Given the description of an element on the screen output the (x, y) to click on. 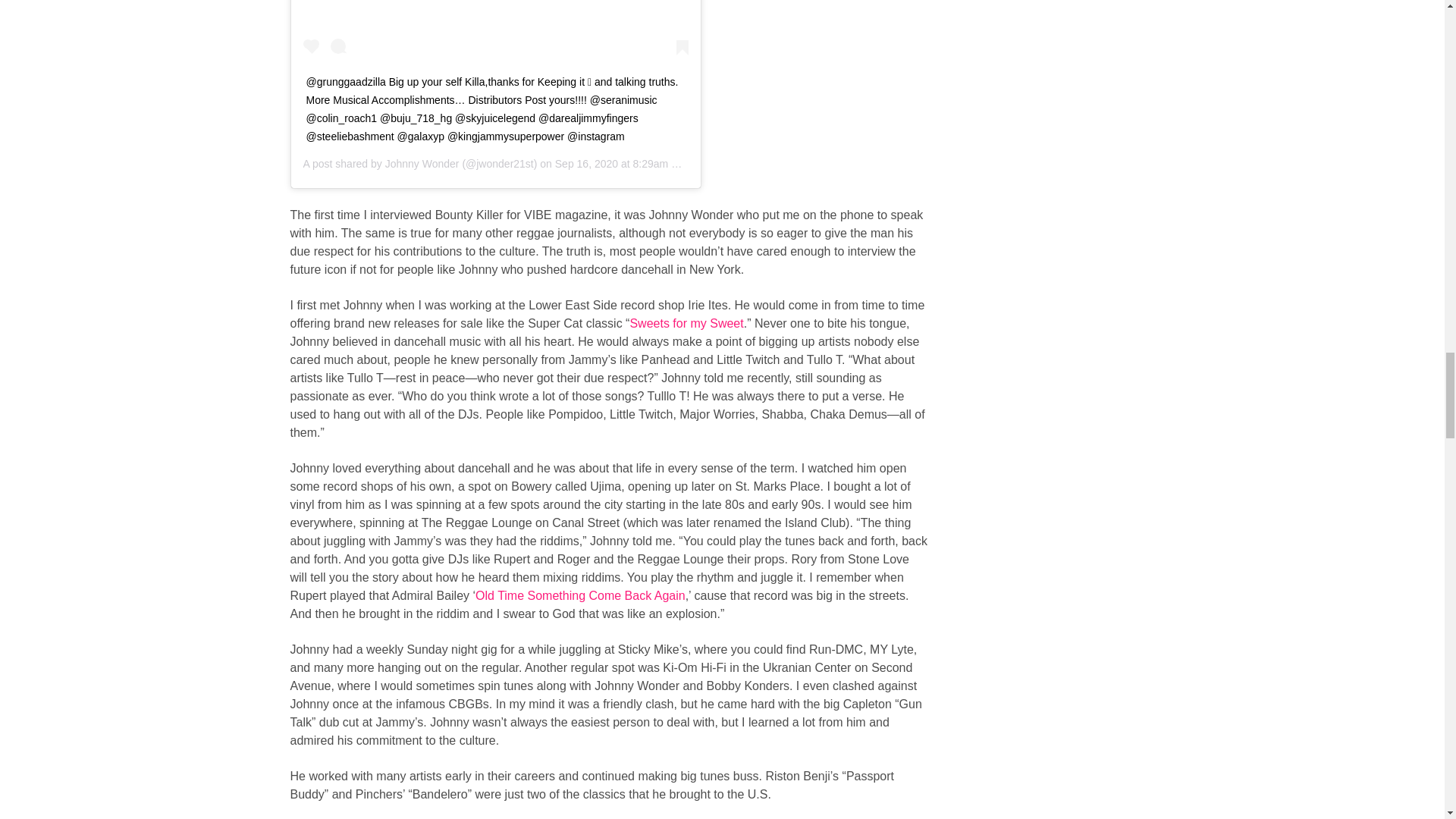
Johnny Wonder (422, 163)
Sweets for my Sweet (685, 323)
Old Time Something Come Back Again (580, 594)
